Given the description of an element on the screen output the (x, y) to click on. 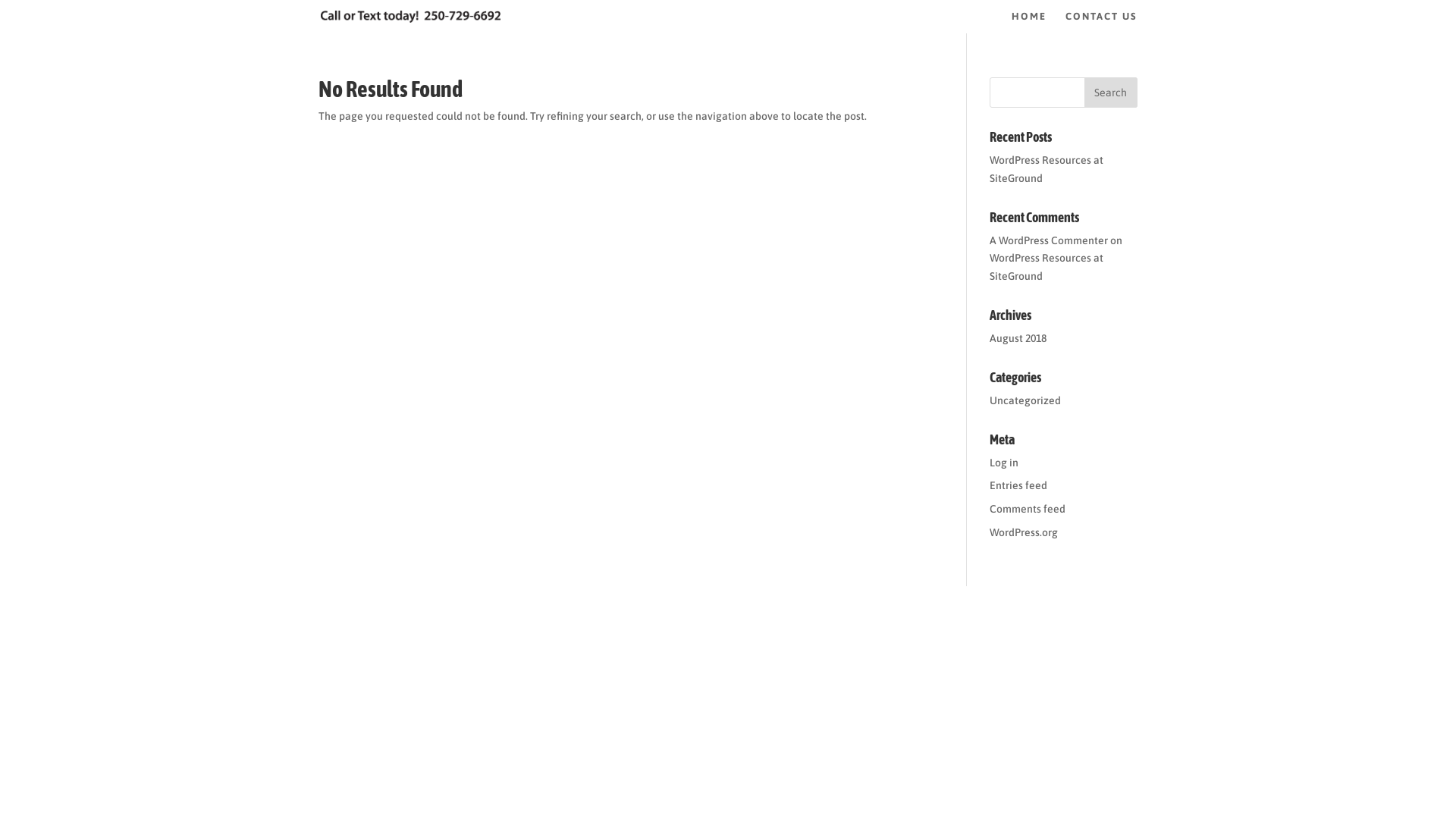
A WordPress Commenter Element type: text (1048, 240)
WordPress Resources at SiteGround Element type: text (1046, 266)
August 2018 Element type: text (1017, 338)
CONTACT US Element type: text (1101, 22)
Log in Element type: text (1003, 462)
HOME Element type: text (1028, 22)
Search Element type: text (1110, 92)
Comments feed Element type: text (1027, 508)
WordPress Resources at SiteGround Element type: text (1046, 168)
Entries feed Element type: text (1018, 485)
WordPress.org Element type: text (1023, 532)
Uncategorized Element type: text (1024, 400)
